Given the description of an element on the screen output the (x, y) to click on. 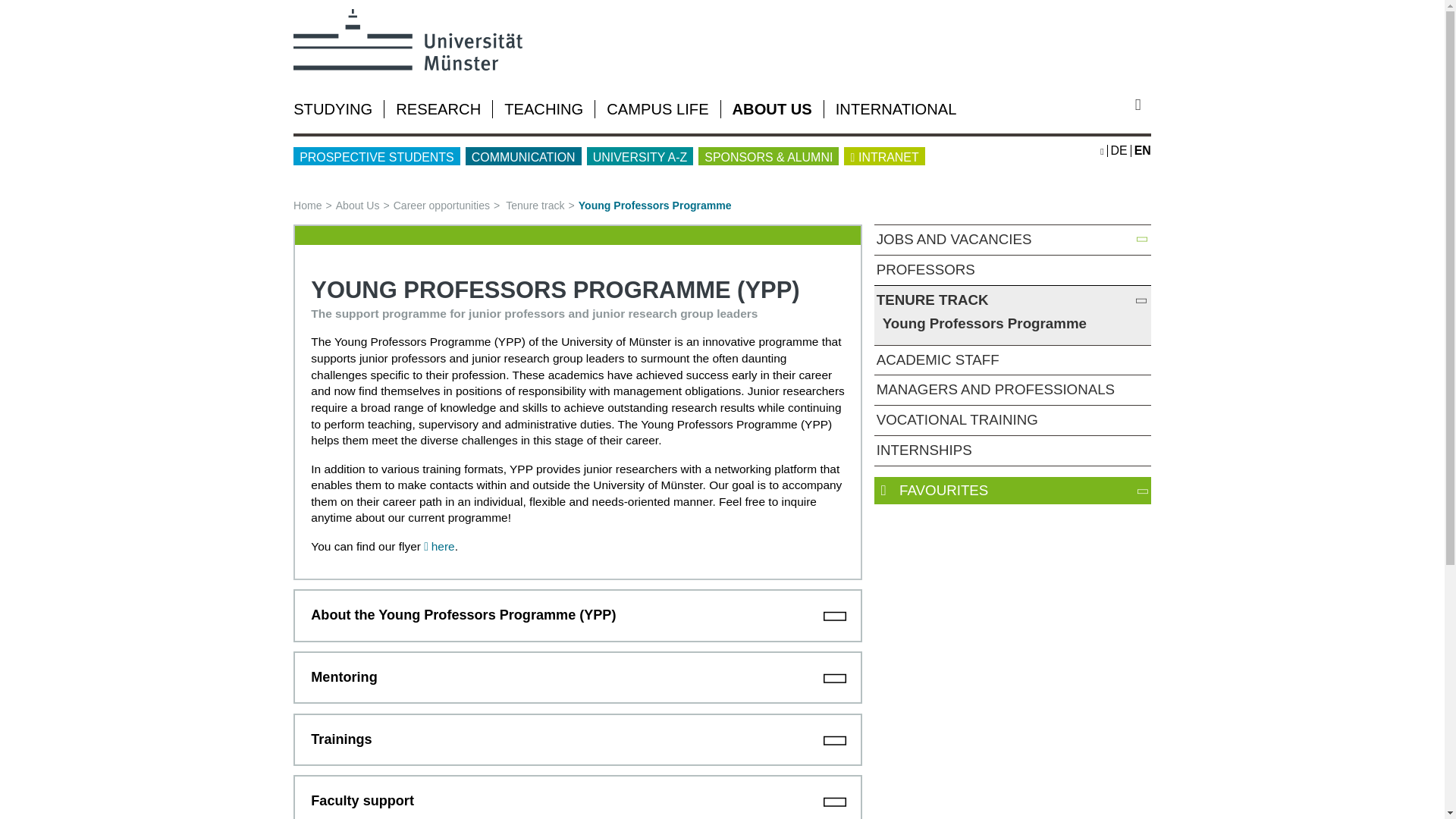
STUDYING (333, 108)
RESEARCH (438, 108)
Deutsch (1118, 150)
Go (1143, 104)
Go (1143, 104)
Go (1143, 104)
English (1142, 150)
